Given the description of an element on the screen output the (x, y) to click on. 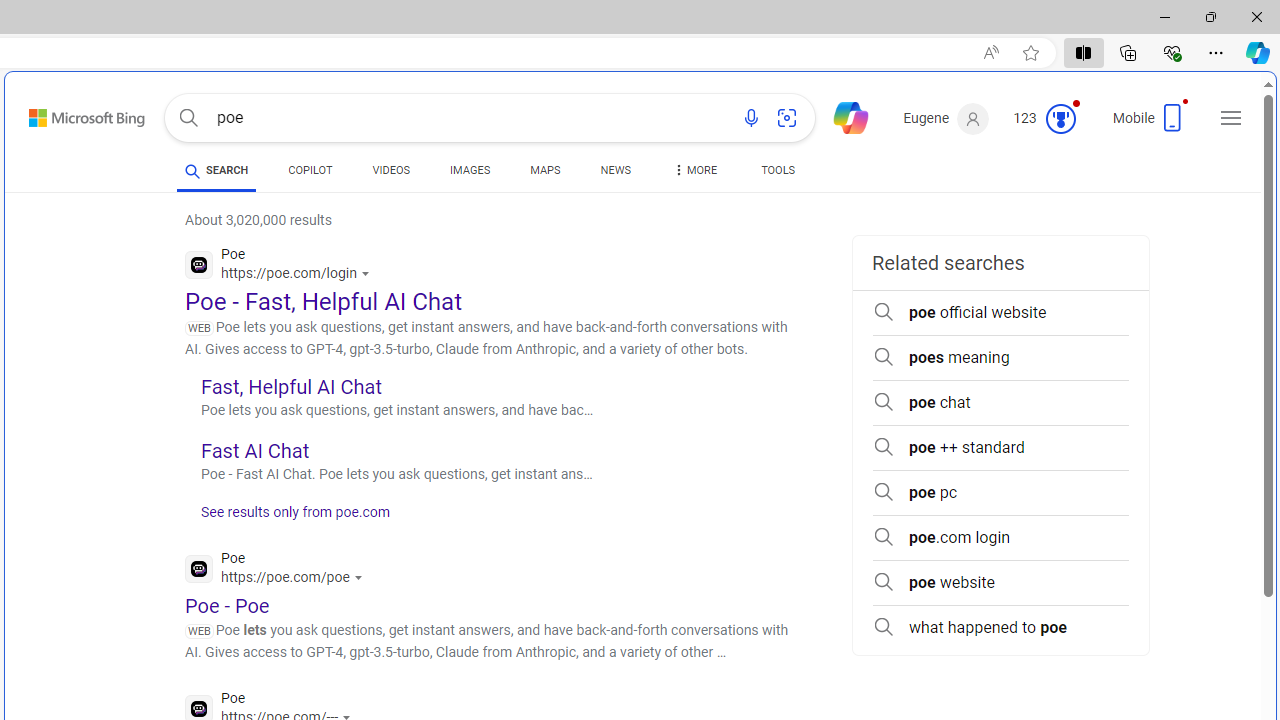
poe ++ standard (1000, 448)
